Given the description of an element on the screen output the (x, y) to click on. 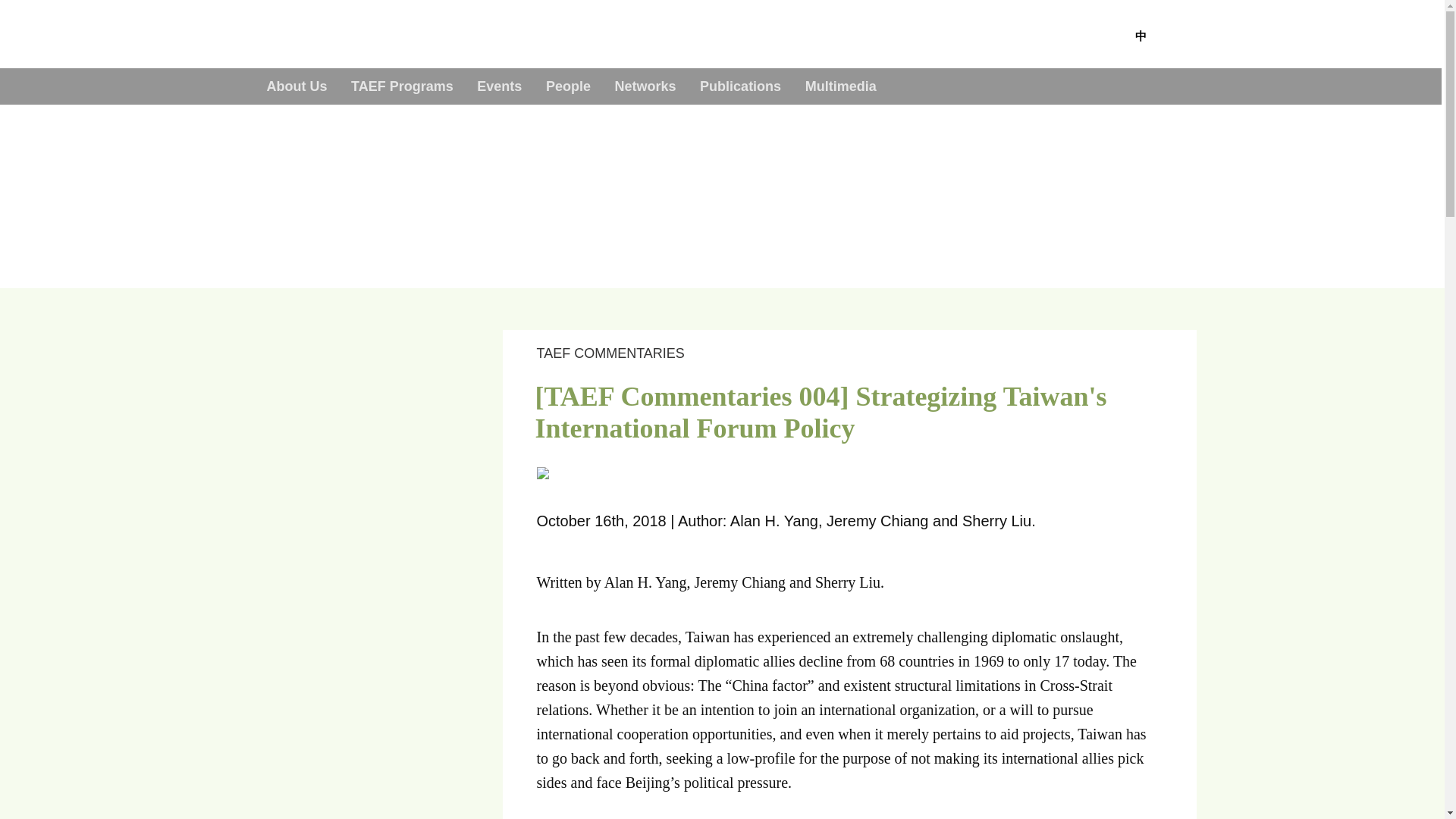
Home (60, 140)
About Us (296, 86)
Skip to main content (721, 69)
Multimedia (840, 86)
Networks (645, 86)
People (567, 86)
TAEF Commentaries (131, 140)
TAEF Programs (401, 86)
TAEF (295, 33)
Publications (740, 86)
Events (499, 86)
